Given the description of an element on the screen output the (x, y) to click on. 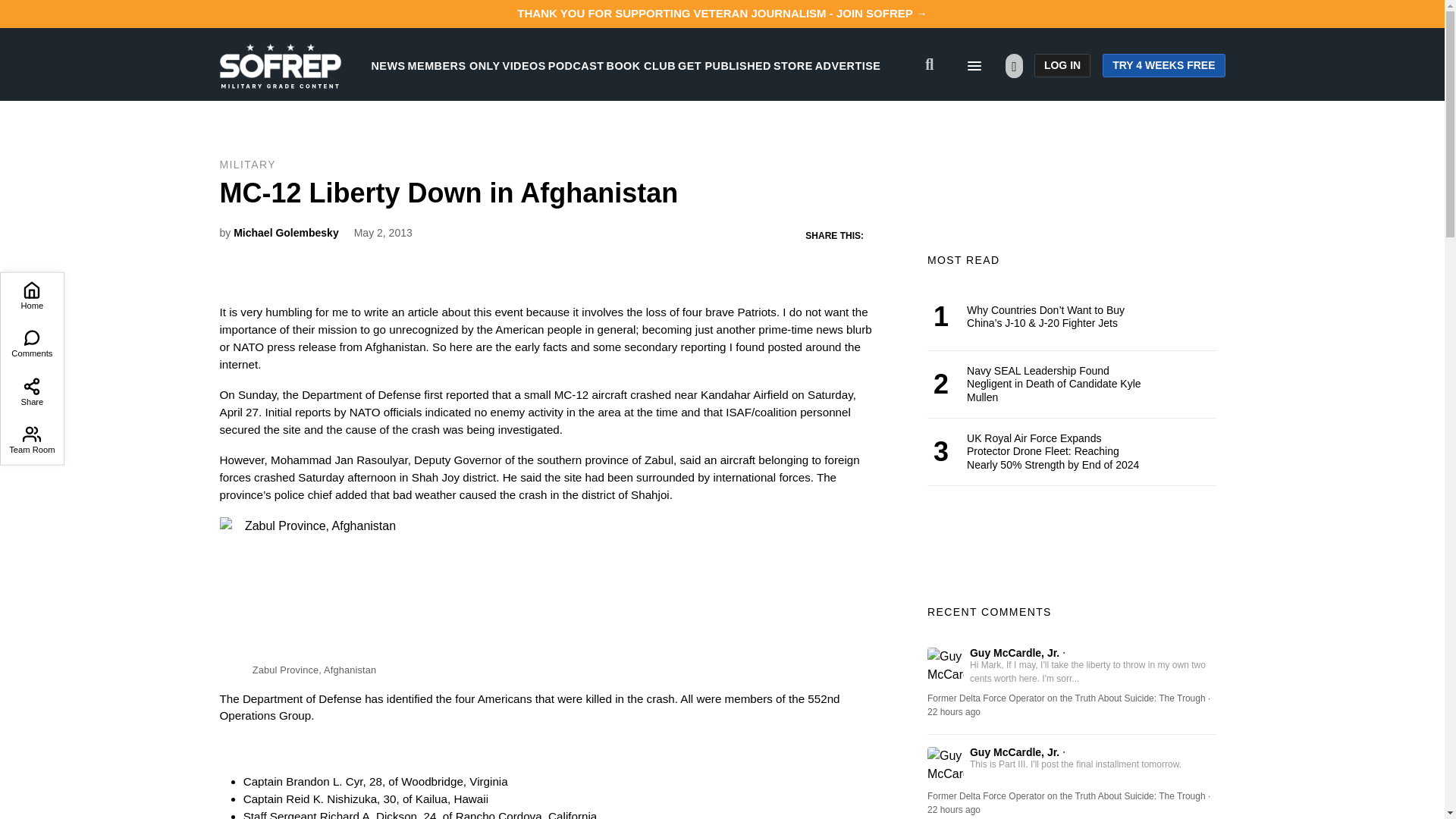
VIDEOS (524, 65)
MEMBERS ONLY (453, 65)
STORE (792, 65)
GET PUBLISHED (724, 65)
BOOK CLUB (641, 65)
LOG IN (1061, 65)
TRY 4 WEEKS FREE (1163, 65)
NEWS (388, 65)
ADVERTISE (847, 65)
PODCAST (576, 65)
